Given the description of an element on the screen output the (x, y) to click on. 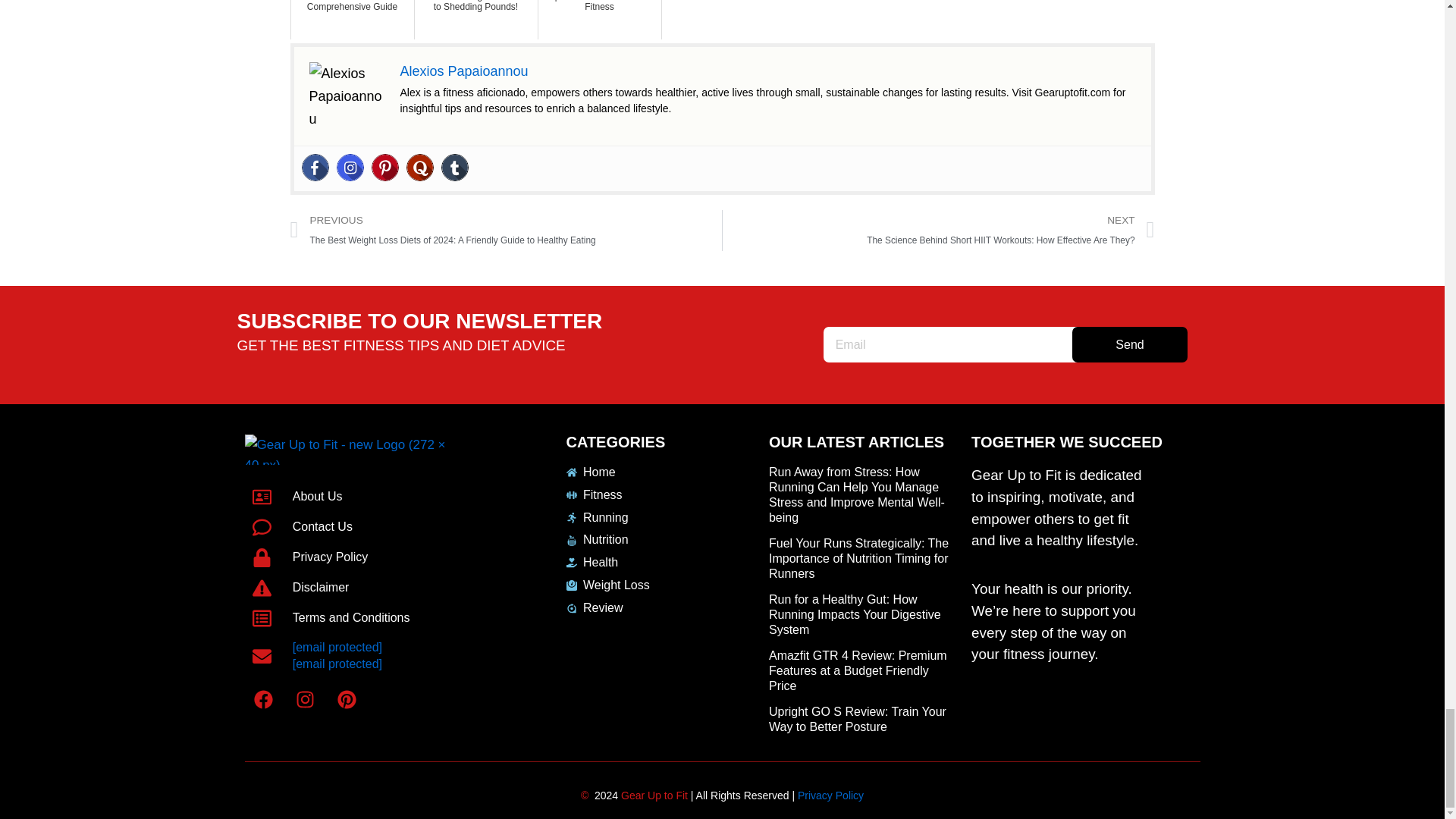
Alexios Papaioannou (464, 70)
Terms and Conditions (358, 618)
Privacy Policy (358, 557)
Quora (419, 166)
Pinterest (384, 166)
Send (1129, 344)
Contact Us (358, 527)
About Us (358, 496)
Protein Rich Diet Plan: Optimize Your Health and Fitness (599, 19)
